Given the description of an element on the screen output the (x, y) to click on. 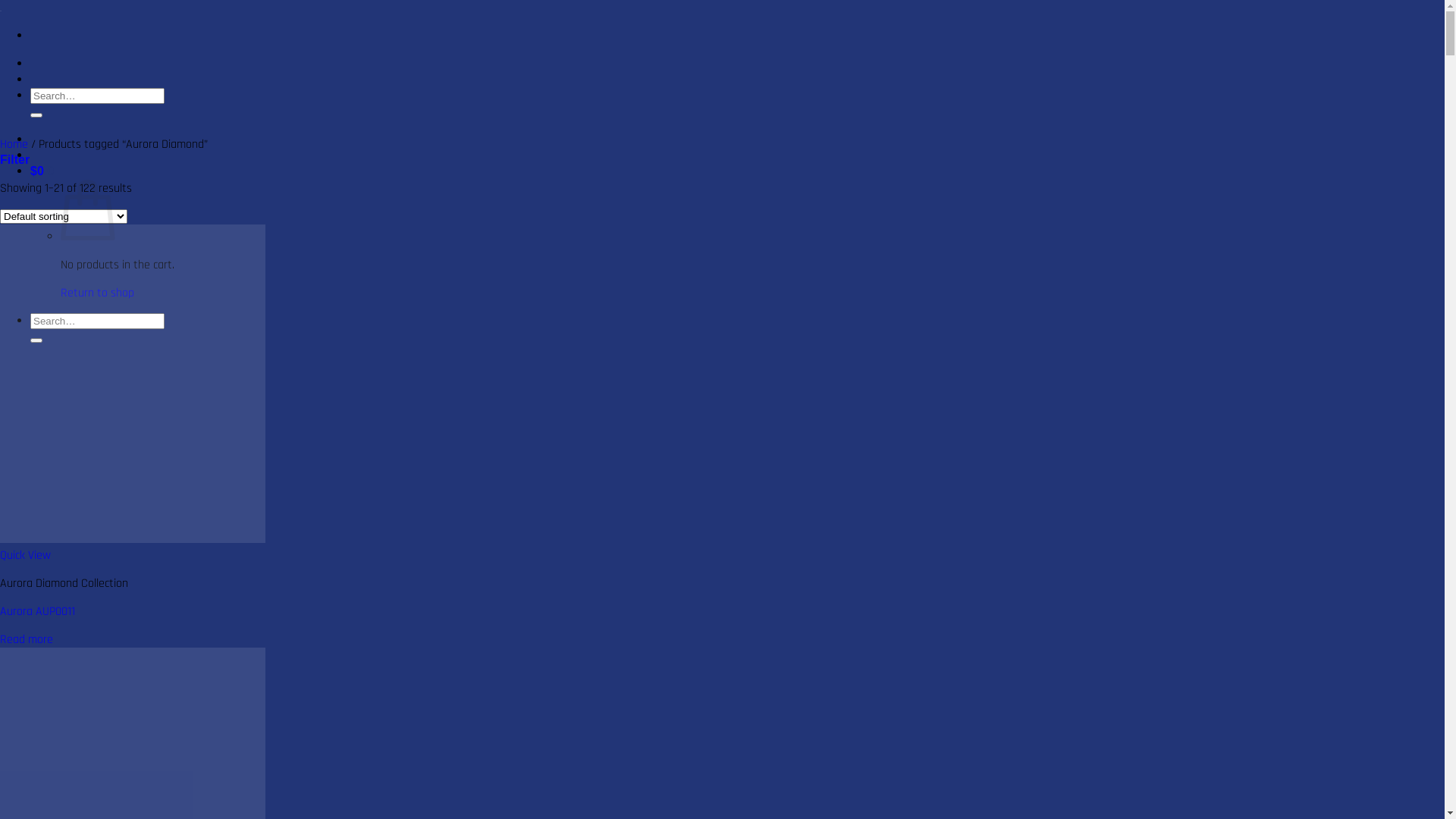
Quick View Element type: text (25, 555)
Read more Element type: text (26, 639)
Return to shop Element type: text (97, 293)
$0 0 Element type: text (41, 170)
Search Element type: text (36, 340)
Filter Element type: text (14, 160)
Search Element type: text (36, 114)
Home Element type: text (14, 144)
Shop | Bartlett Master Jewellers | Townsville Jeweller Element type: hover (0, 7)
Aurora AUP0011 Element type: text (37, 611)
